Given the description of an element on the screen output the (x, y) to click on. 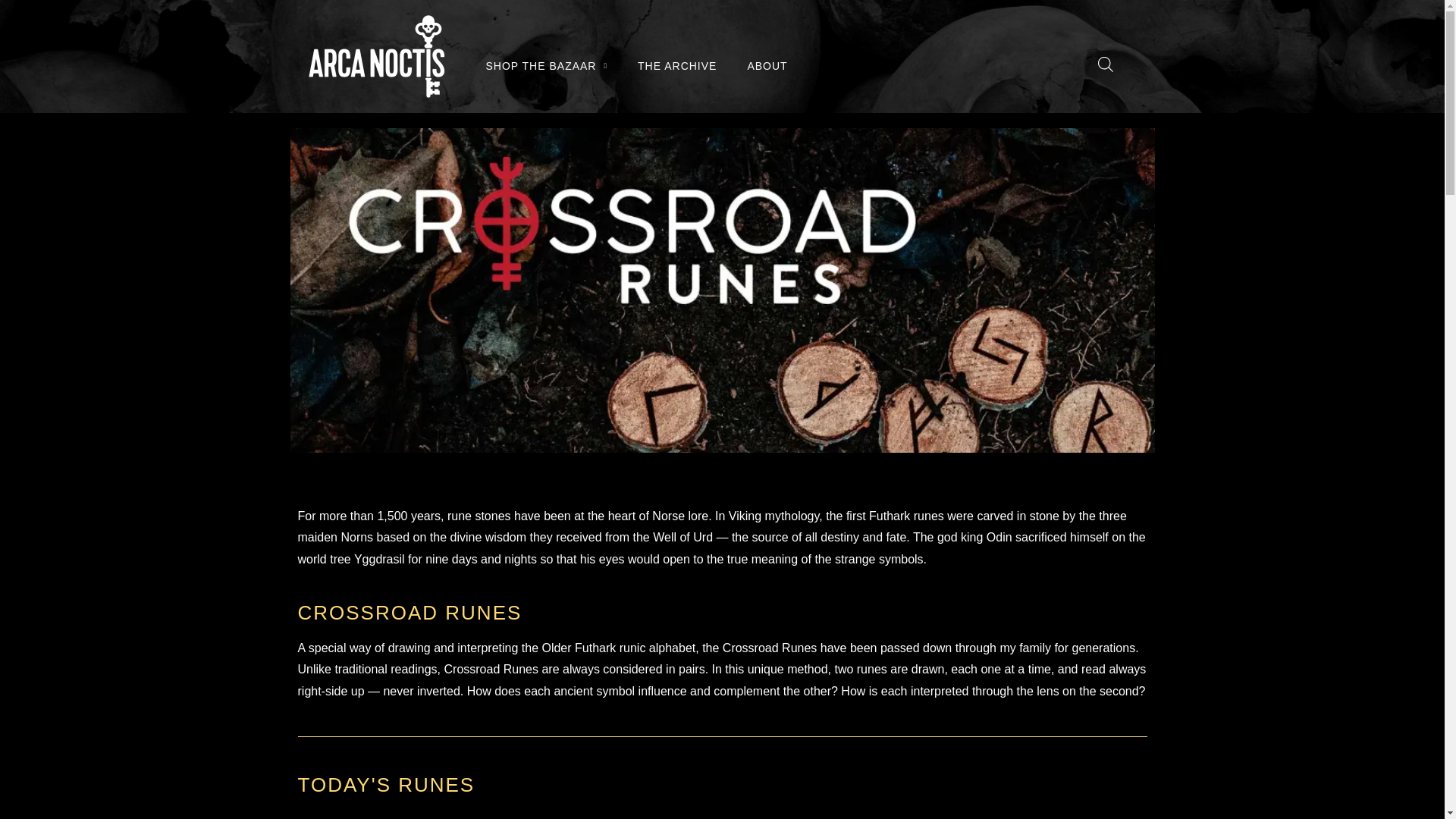
TODAY'S RUNES (385, 784)
ABOUT (767, 65)
Arca Noctis (375, 56)
SHOP THE BAZAAR (546, 65)
THE ARCHIVE (677, 65)
